Given the description of an element on the screen output the (x, y) to click on. 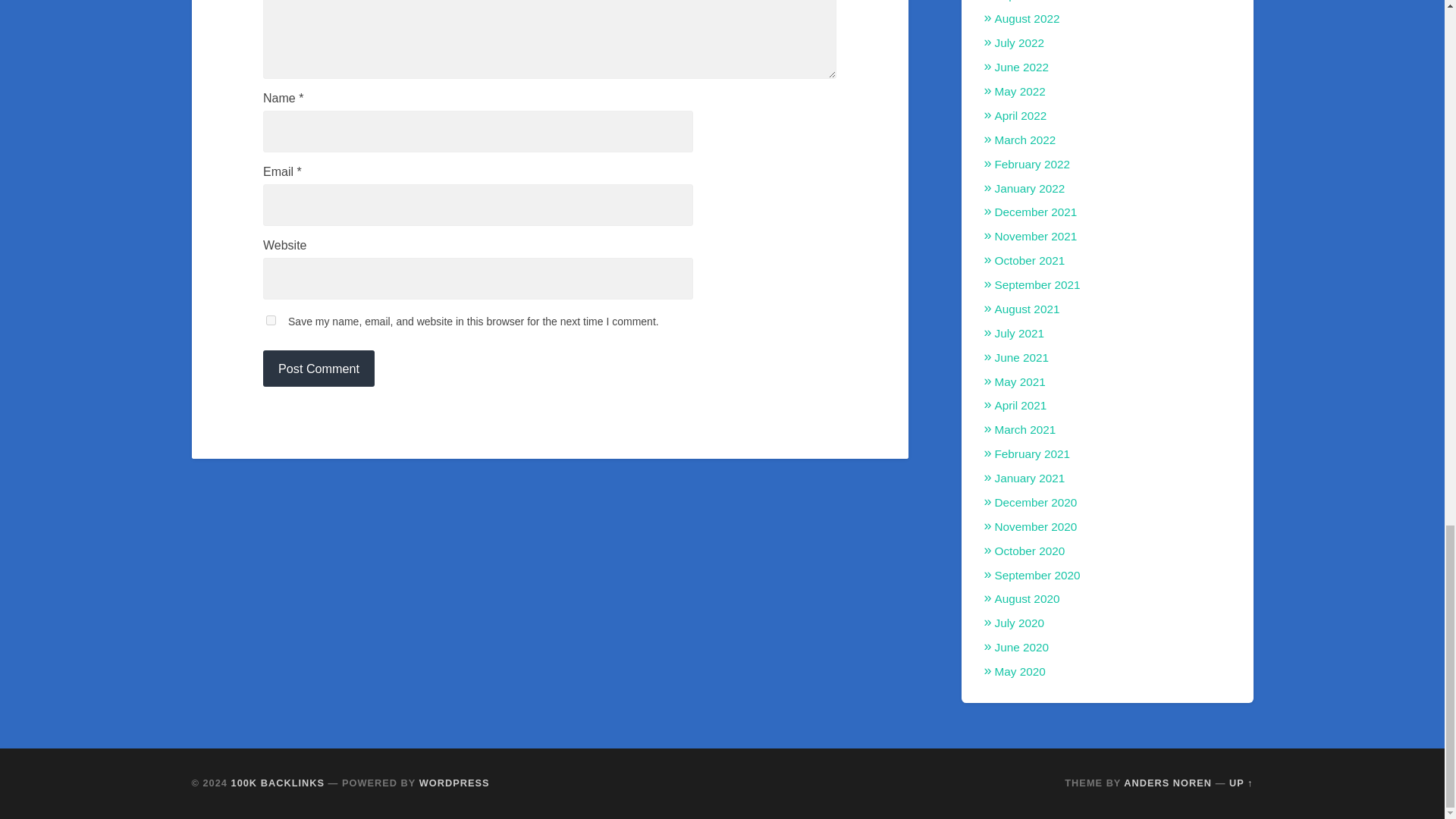
Post Comment (318, 368)
yes (271, 320)
Post Comment (318, 368)
